Given the description of an element on the screen output the (x, y) to click on. 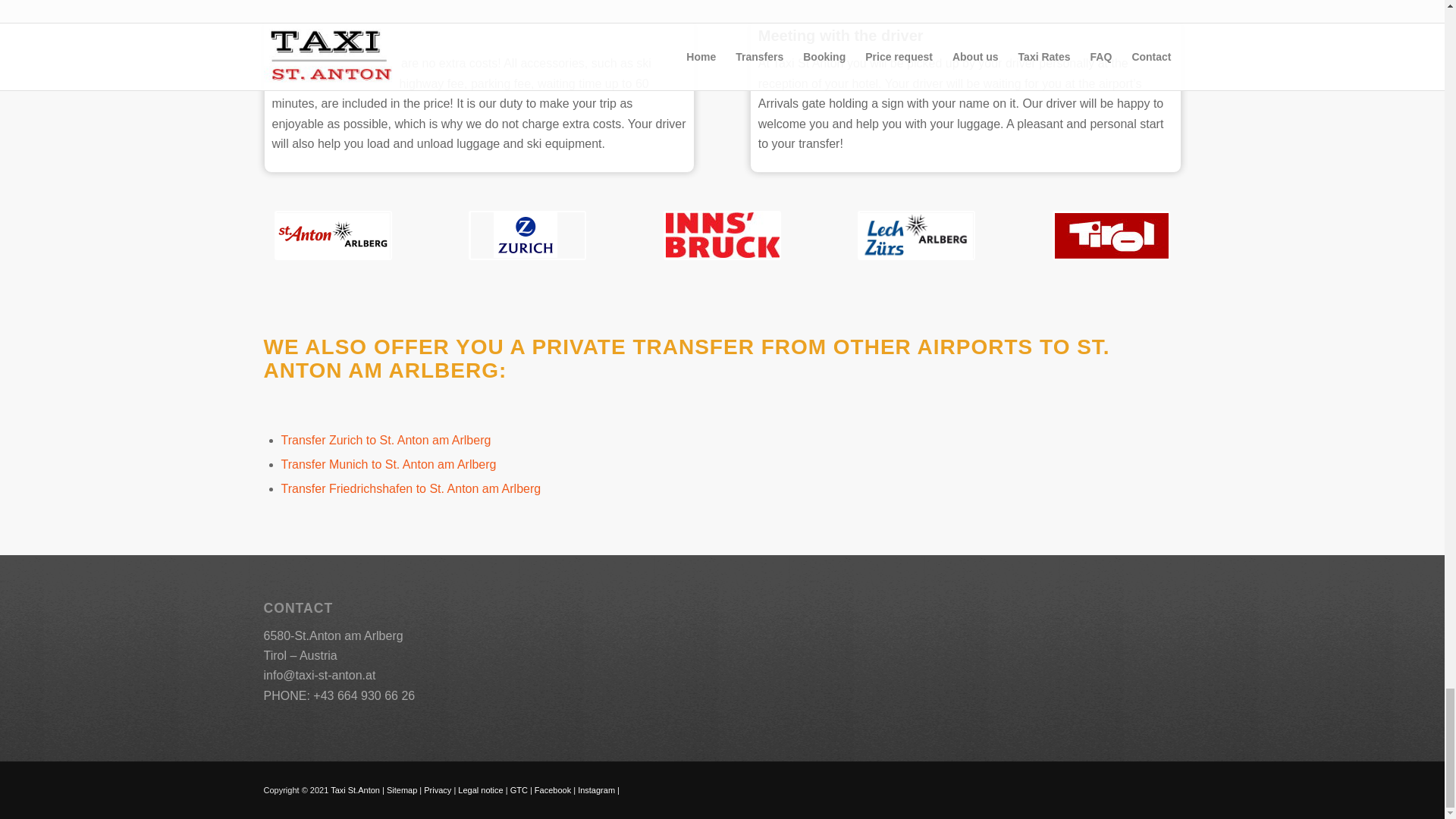
GTC (519, 789)
Legal notice (480, 789)
Transfer Munich to St. Anton am Arlberg (388, 463)
Privacy (437, 789)
Transfer Zurich to St. Anton am Arlberg (385, 440)
Sitemap (401, 789)
Zuerich Airport -1 (527, 235)
Lech am Arlberg-1 (916, 235)
St Anton am Arlberg-1 (333, 235)
Transfer Friedrichshafen to St. Anton am Arlberg (410, 488)
Taxi St.Anton (355, 789)
Instagram (596, 789)
Innsbruck Airport -1 (721, 235)
Facebook (552, 789)
